Given the description of an element on the screen output the (x, y) to click on. 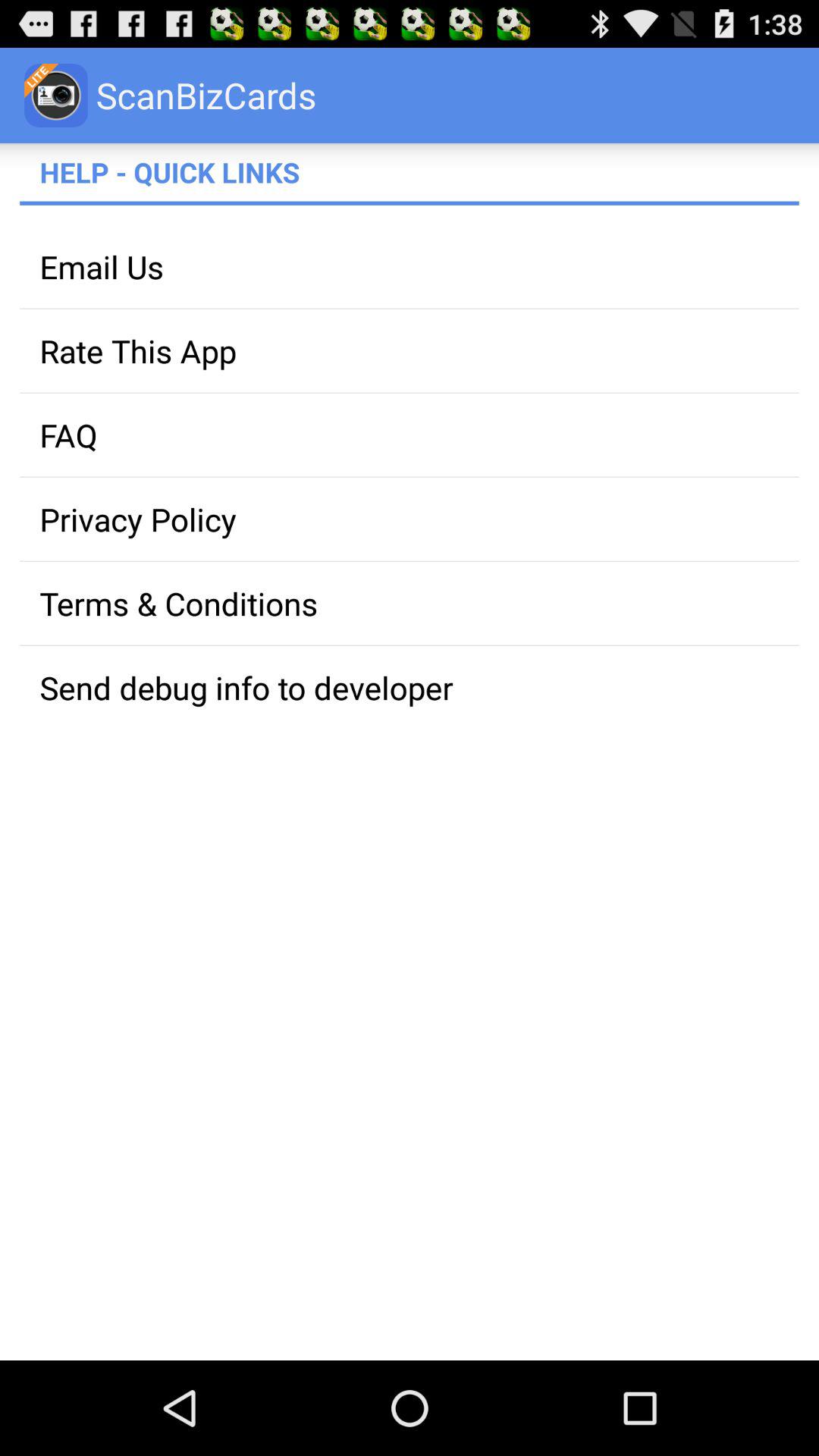
press the icon below the faq app (409, 518)
